Given the description of an element on the screen output the (x, y) to click on. 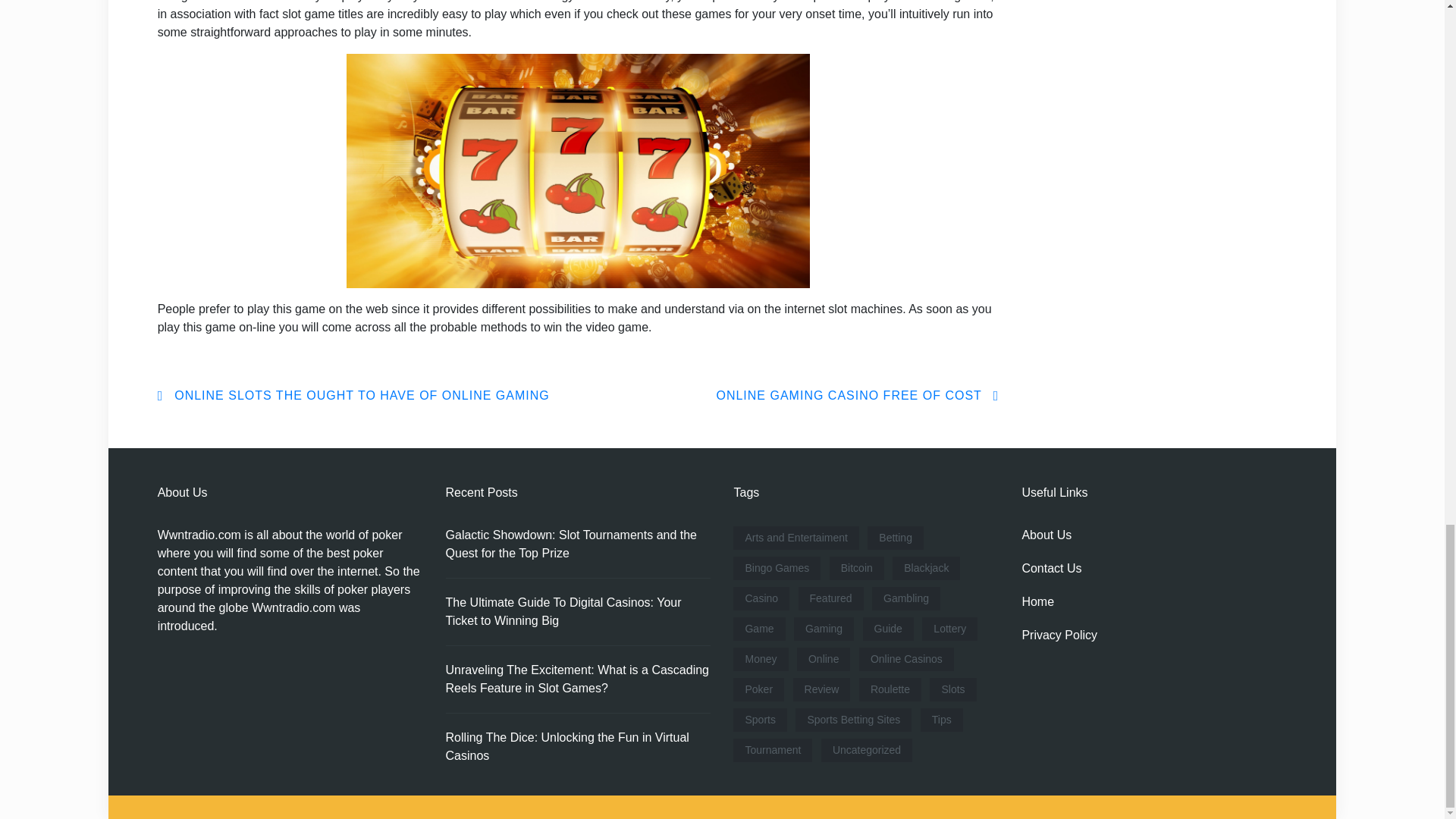
Betting (895, 537)
Bingo Games (777, 567)
Bitcoin (856, 567)
Arts and Entertaiment (796, 537)
Wwntradio.com (199, 534)
Rolling The Dice: Unlocking the Fun in Virtual Casinos (578, 746)
Blackjack (925, 567)
ONLINE GAMING CASINO FREE OF COST (857, 395)
